Given the description of an element on the screen output the (x, y) to click on. 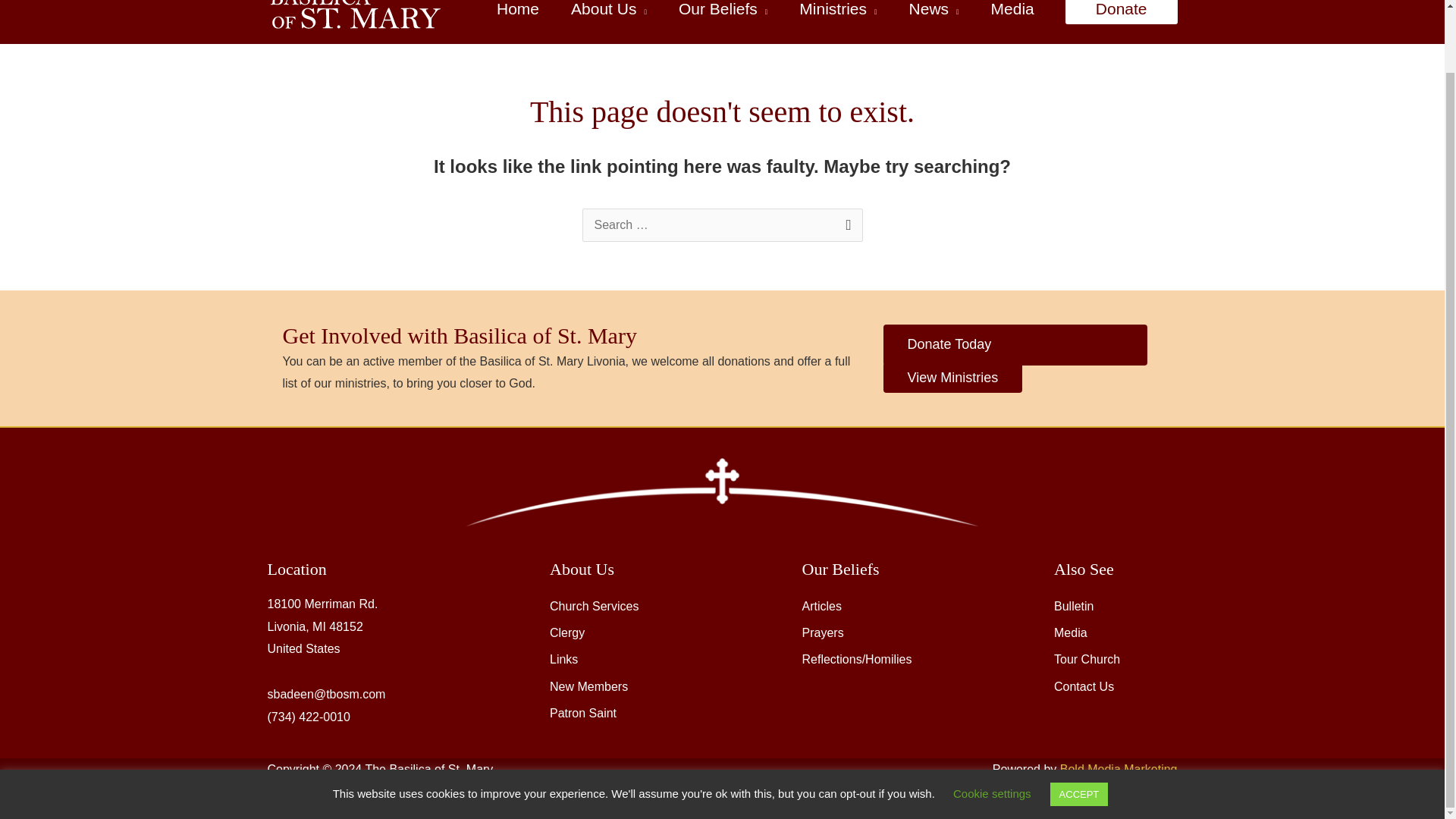
News (934, 18)
Search (844, 224)
Our Beliefs (722, 18)
Ministries (837, 18)
Search (844, 224)
About Us (608, 18)
Home (517, 18)
